Given the description of an element on the screen output the (x, y) to click on. 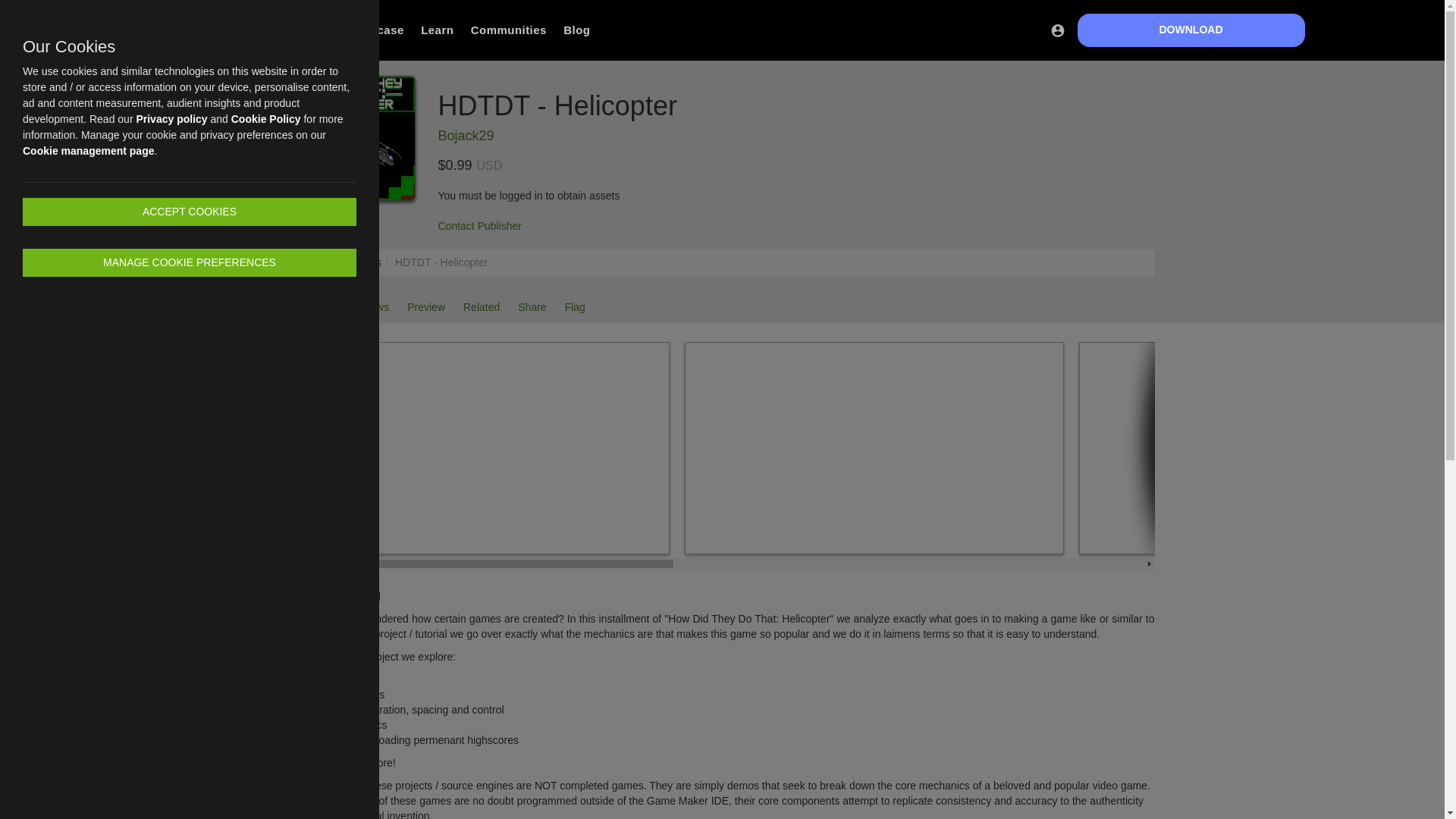
Communities (508, 30)
Home (315, 262)
Bojack29 (466, 135)
Showcase (374, 30)
Share (531, 307)
Cookie management page (88, 150)
Reviews (368, 307)
Related (481, 307)
DOWNLOAD (1190, 29)
Details (314, 307)
ACCEPT COOKIES (189, 212)
MANAGE COOKIE PREFERENCES (189, 262)
Projects (362, 262)
Privacy policy (170, 119)
Preview (425, 307)
